Given the description of an element on the screen output the (x, y) to click on. 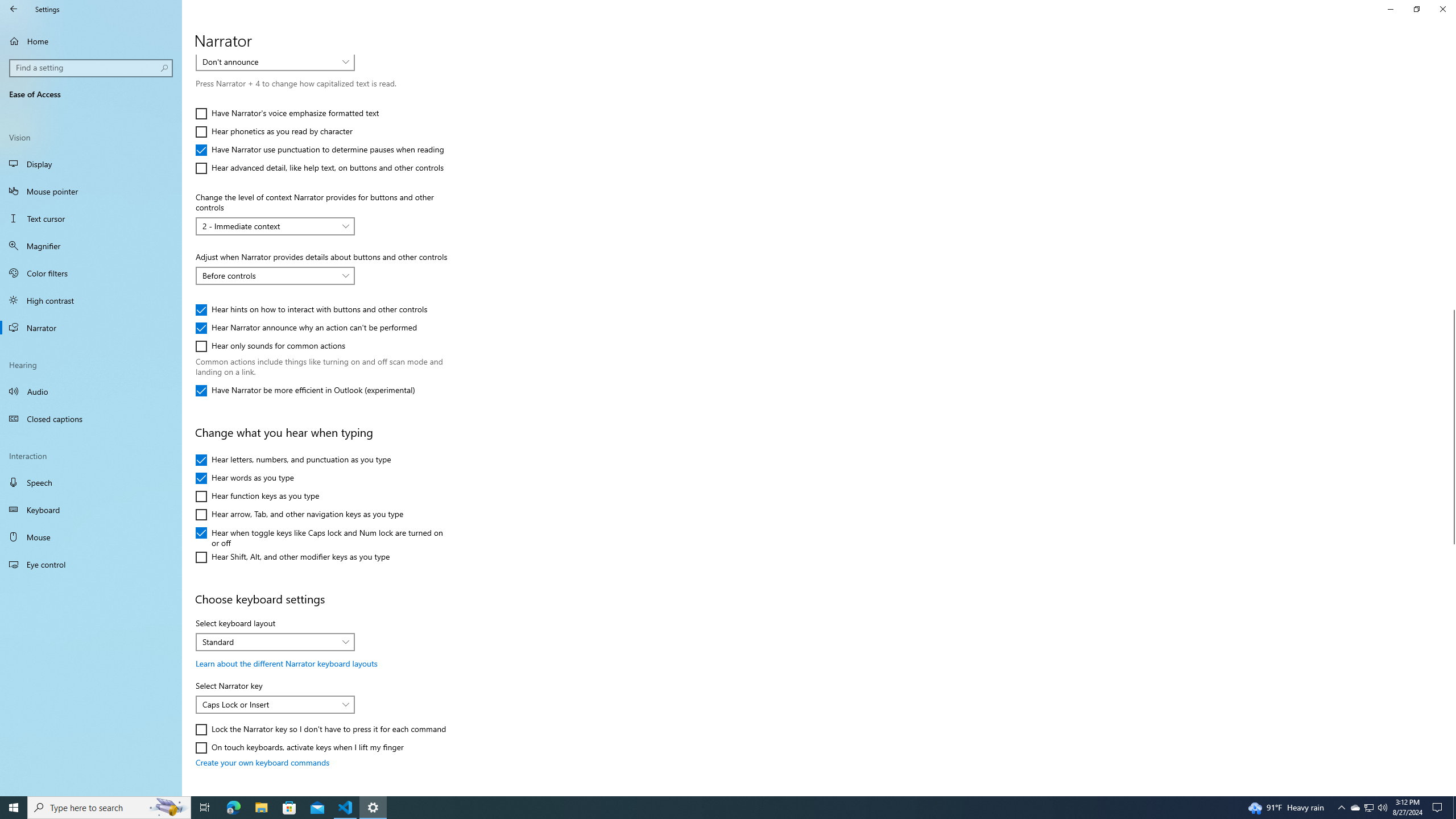
Hear words as you type (244, 478)
Eye control (91, 564)
Caps Lock or Insert (269, 704)
Keyboard (91, 509)
Color filters (91, 272)
Before controls (269, 275)
On touch keyboards, activate keys when I lift my finger (299, 747)
Have Narrator's voice emphasize formatted text (287, 113)
